Given the description of an element on the screen output the (x, y) to click on. 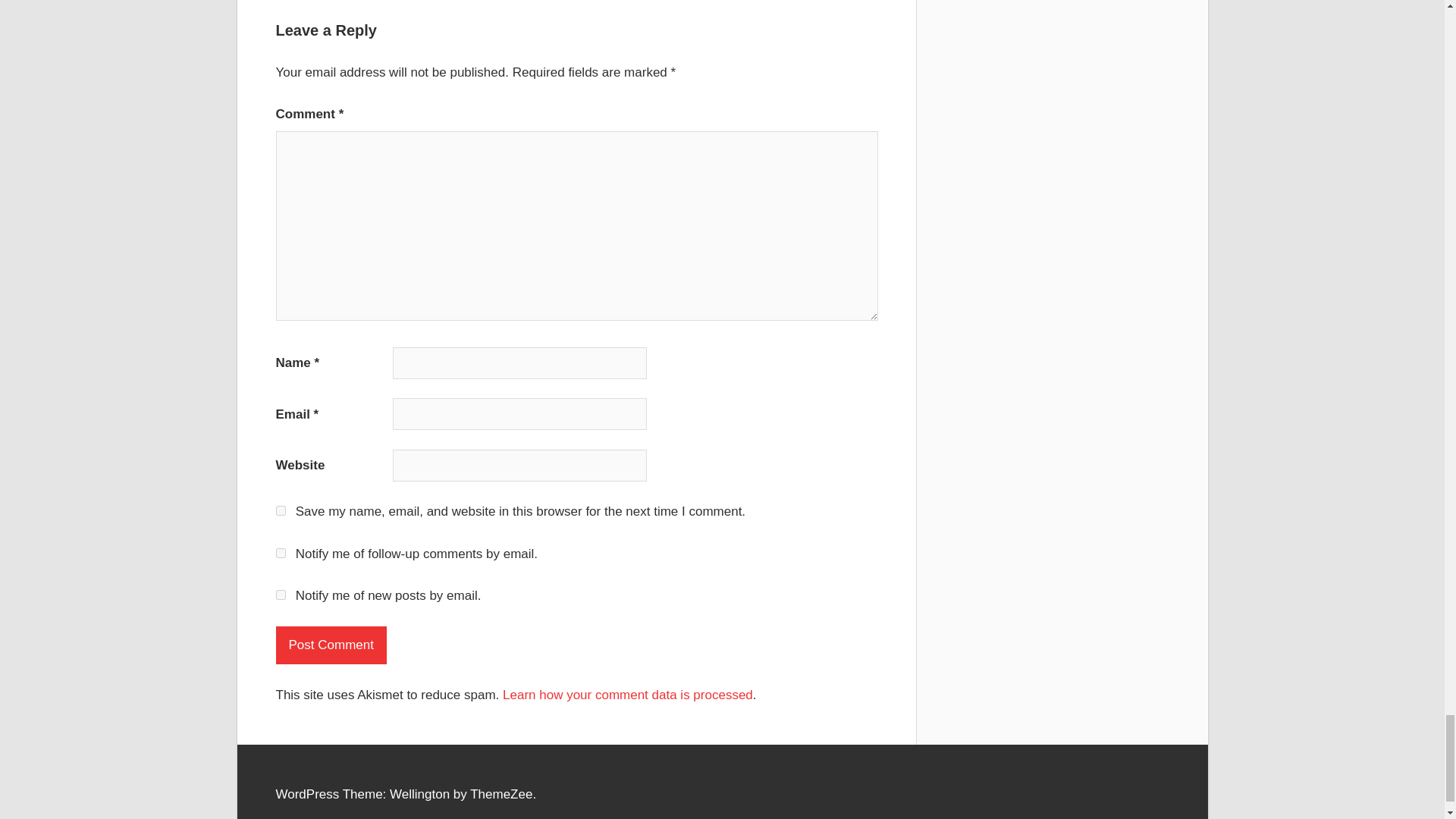
Post Comment (331, 645)
yes (280, 510)
subscribe (280, 552)
subscribe (280, 594)
